Given the description of an element on the screen output the (x, y) to click on. 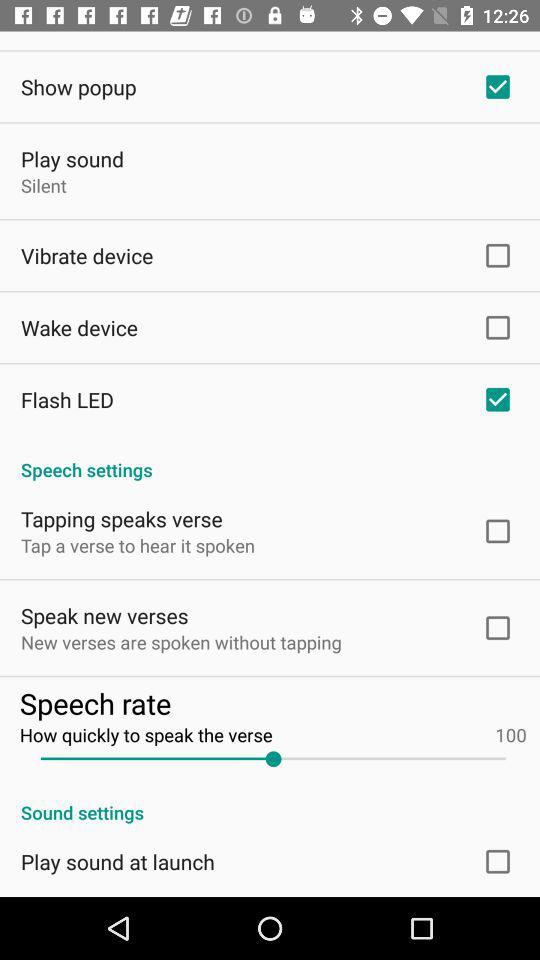
select the icon above the how quickly to icon (272, 702)
